Given the description of an element on the screen output the (x, y) to click on. 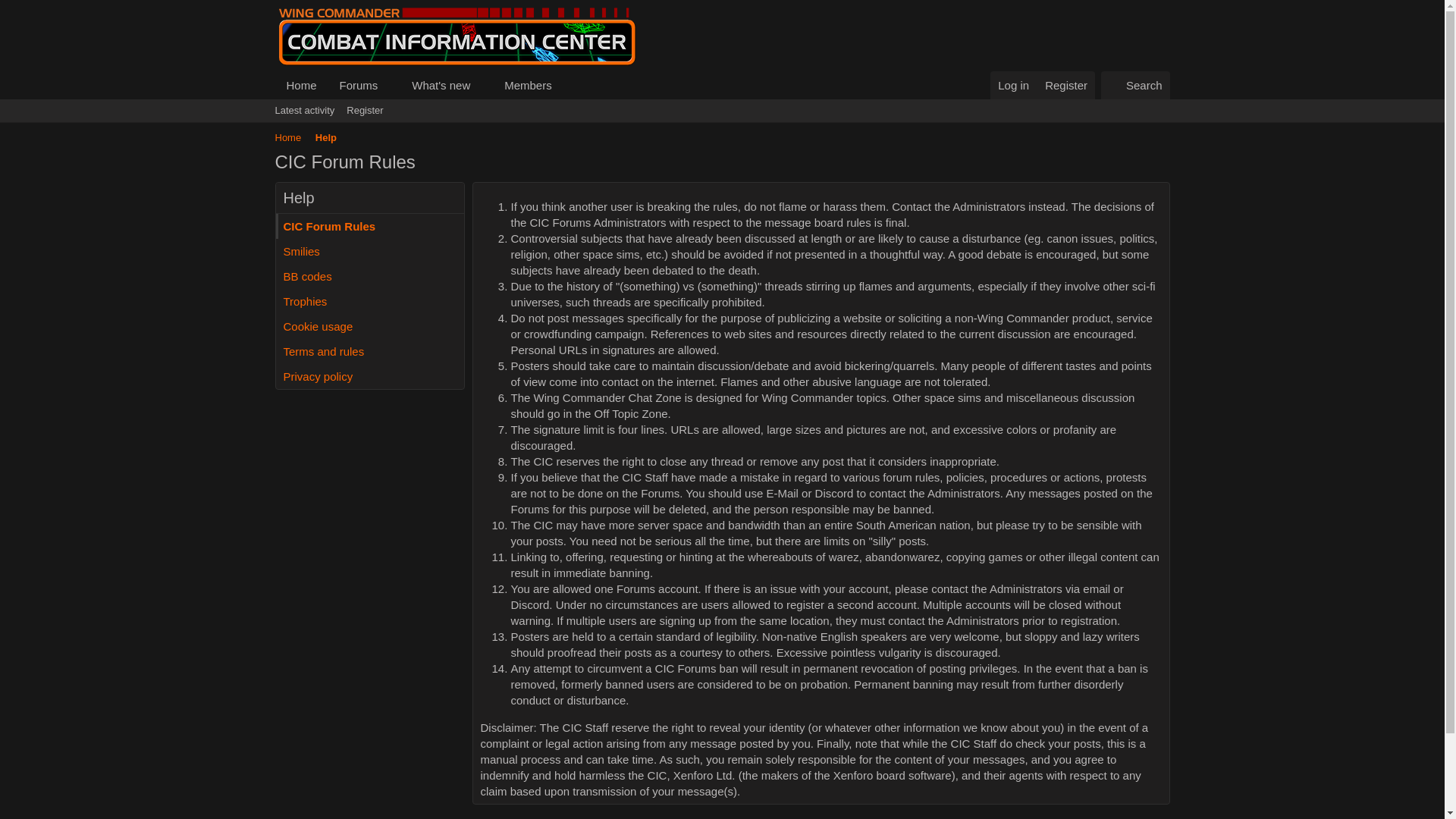
Smilies (370, 251)
Log in (1013, 85)
Register (1065, 85)
Help (325, 138)
Latest activity (303, 110)
Search (1135, 85)
BB codes (370, 276)
Forums (354, 85)
Cookie usage (370, 326)
Privacy policy (370, 376)
